Given the description of an element on the screen output the (x, y) to click on. 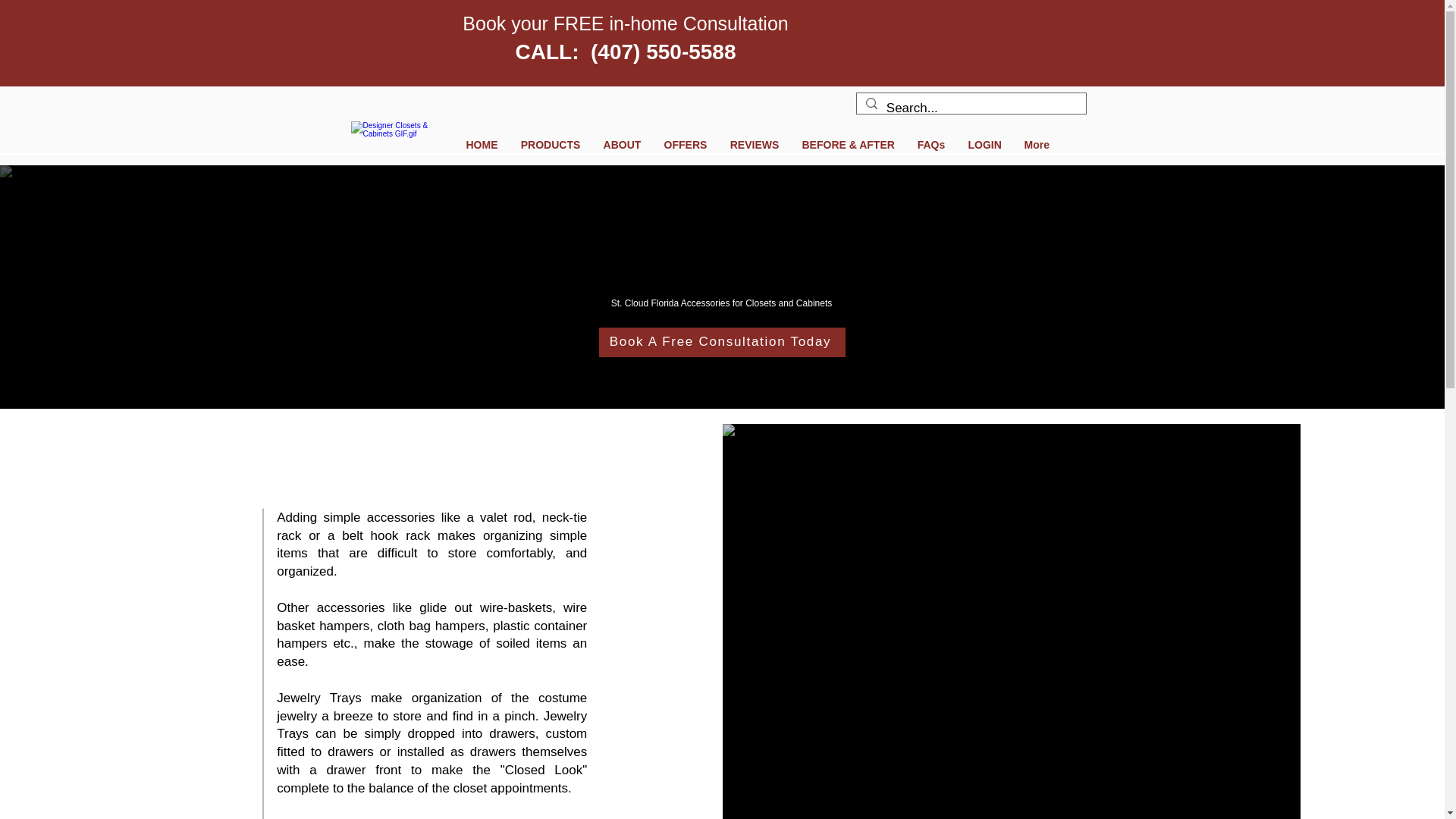
FAQs (930, 144)
Book A Free Consultation Today (721, 342)
ABOUT (621, 144)
HOME (481, 144)
REVIEWS (754, 144)
LOGIN (984, 144)
